Given the description of an element on the screen output the (x, y) to click on. 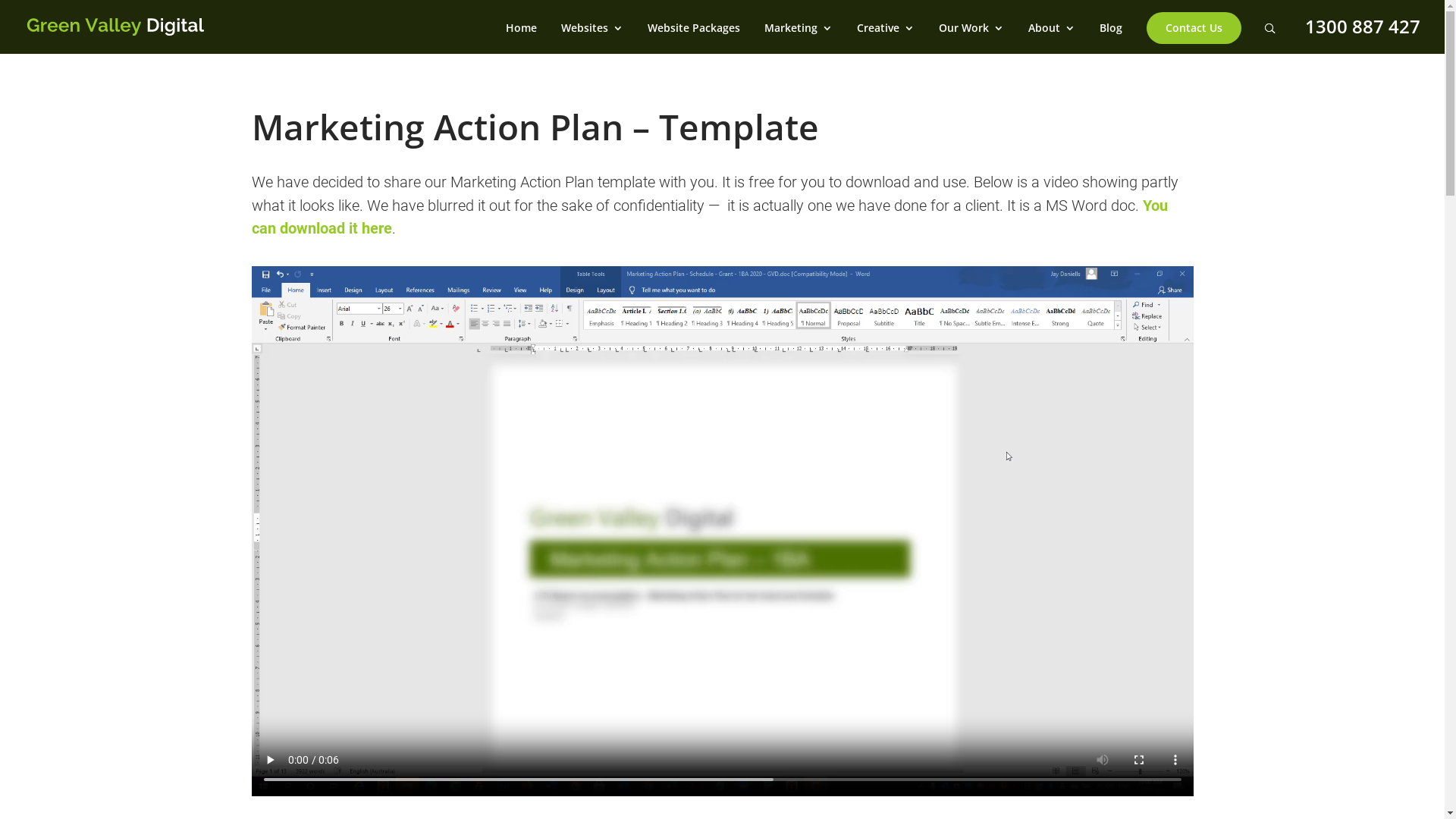
You can download it here Element type: text (709, 217)
About Element type: text (1051, 37)
Creative Element type: text (885, 37)
Blog Element type: text (1110, 37)
1300 887 427 Element type: text (1362, 25)
Marketing Element type: text (798, 37)
Home Element type: text (520, 37)
Websites Element type: text (592, 37)
Our Work Element type: text (971, 37)
Website Packages Element type: text (693, 37)
Contact Us Element type: text (1193, 37)
